Given the description of an element on the screen output the (x, y) to click on. 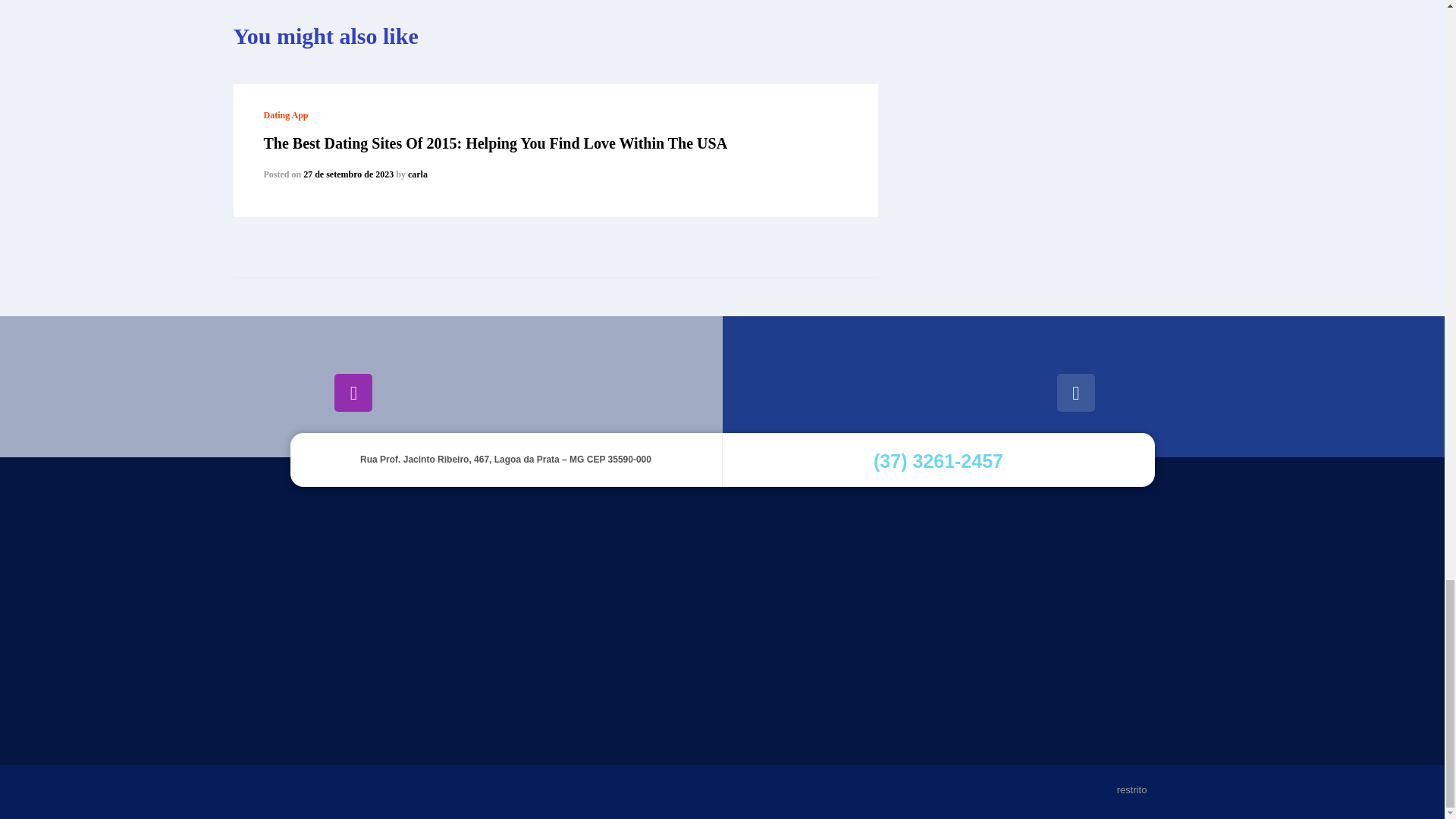
27 de setembro de 2023 (347, 173)
Dating App (285, 114)
